Given the description of an element on the screen output the (x, y) to click on. 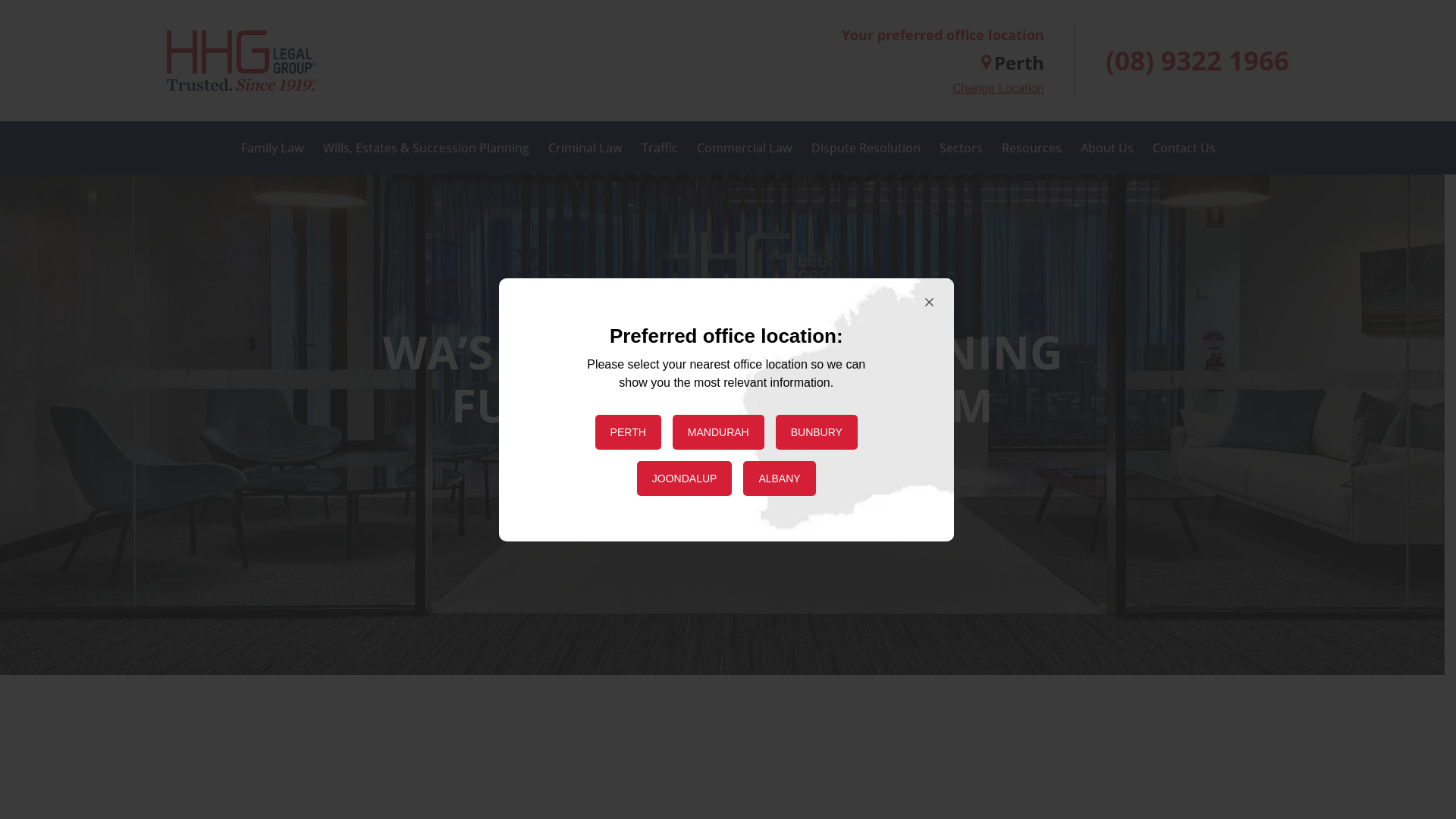
ALBANY Element type: text (779, 478)
LEARN MORE Element type: text (721, 492)
(08) 9322 1966 Element type: text (1197, 60)
Family Law Element type: text (272, 147)
Resources Element type: text (1030, 147)
Criminal Law Element type: text (584, 147)
BUNBURY Element type: text (816, 431)
Close Element type: hover (921, 302)
About Us Element type: text (1106, 147)
PERTH Element type: text (628, 431)
JOONDALUP Element type: text (684, 478)
Commercial Law Element type: text (743, 147)
Contact Us Element type: text (1184, 147)
Sectors Element type: text (960, 147)
Change Location Element type: text (998, 88)
Wills, Estates & Succession Planning Element type: text (425, 147)
Traffic Element type: text (659, 147)
MANDURAH Element type: text (718, 431)
Dispute Resolution Element type: text (865, 147)
